Given the description of an element on the screen output the (x, y) to click on. 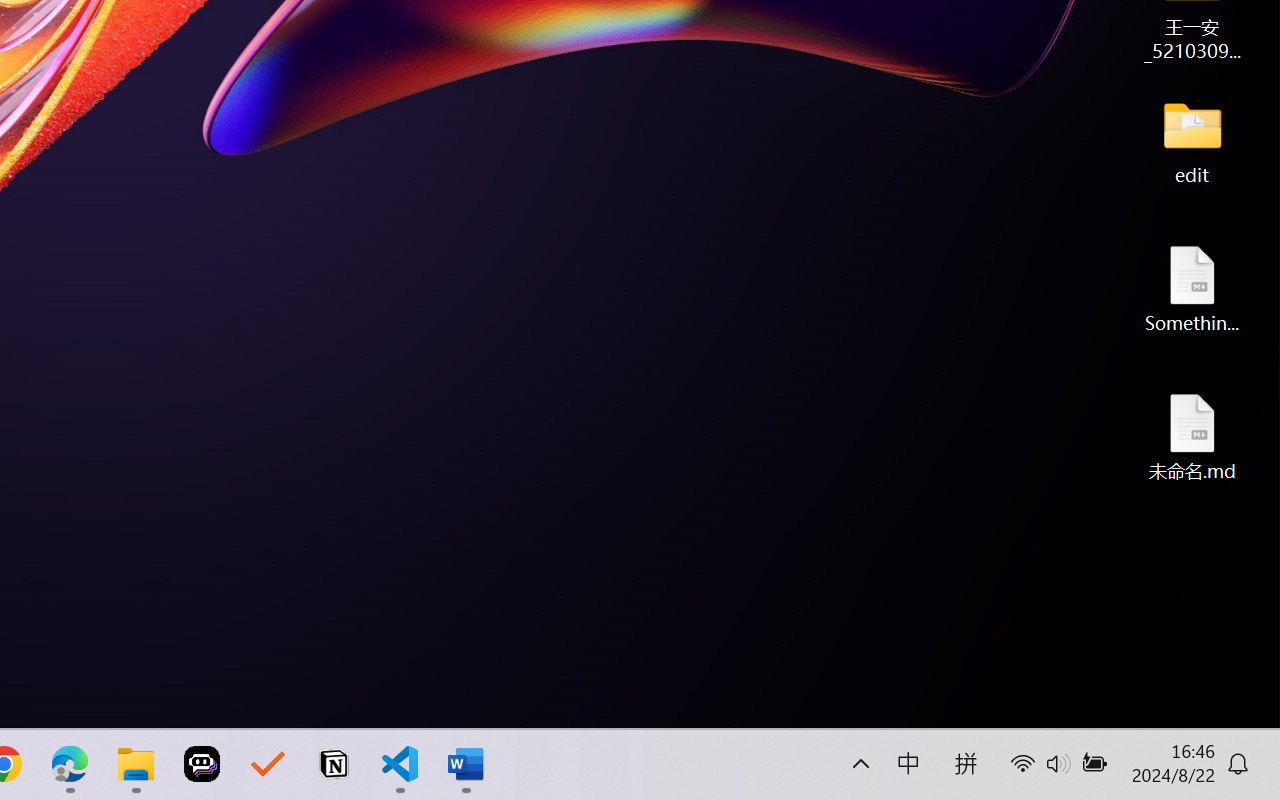
edit (1192, 140)
Something.md (1192, 288)
